Given the description of an element on the screen output the (x, y) to click on. 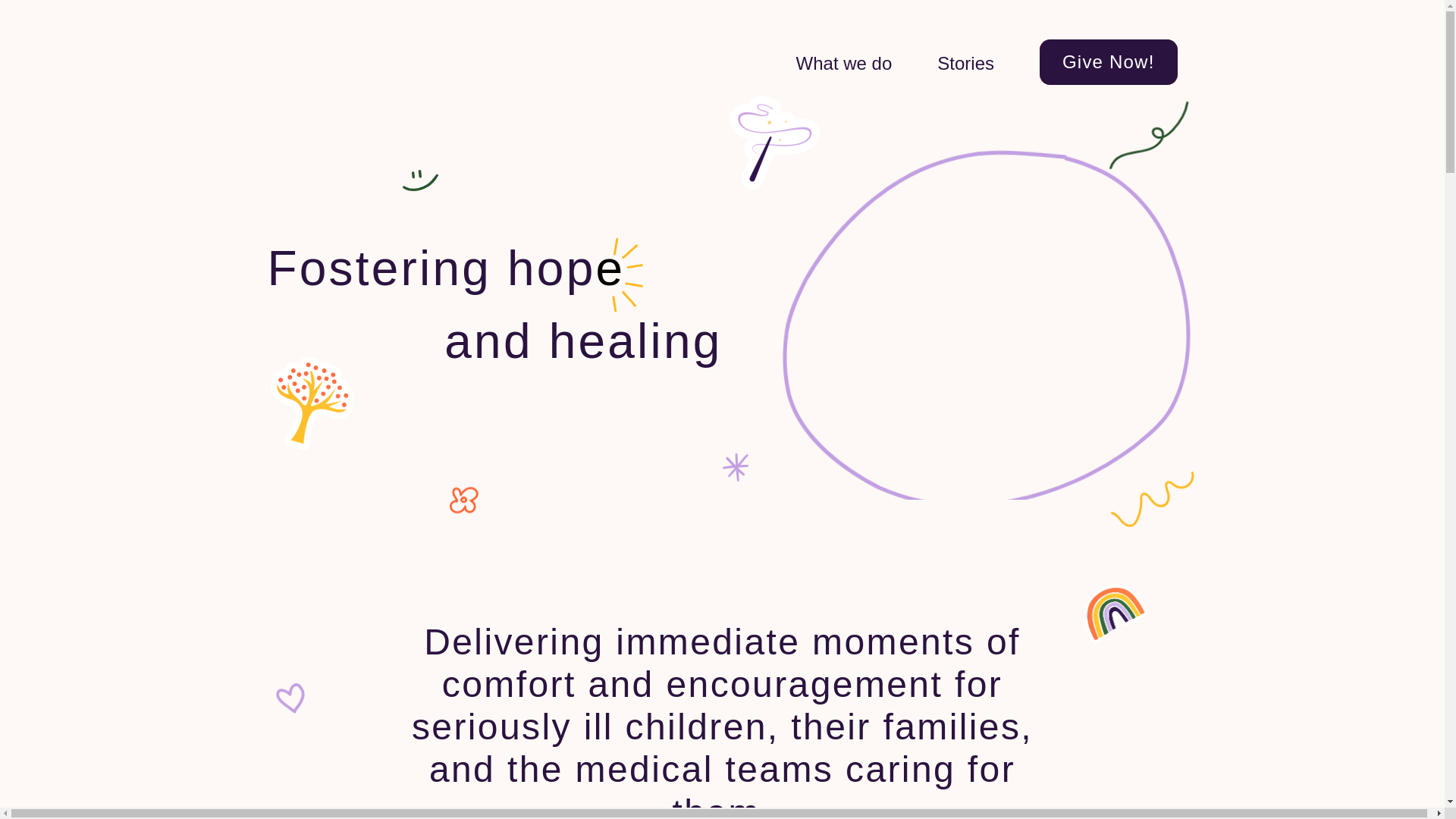
Give Now! (1108, 62)
What we do (844, 63)
Stories (965, 63)
